Given the description of an element on the screen output the (x, y) to click on. 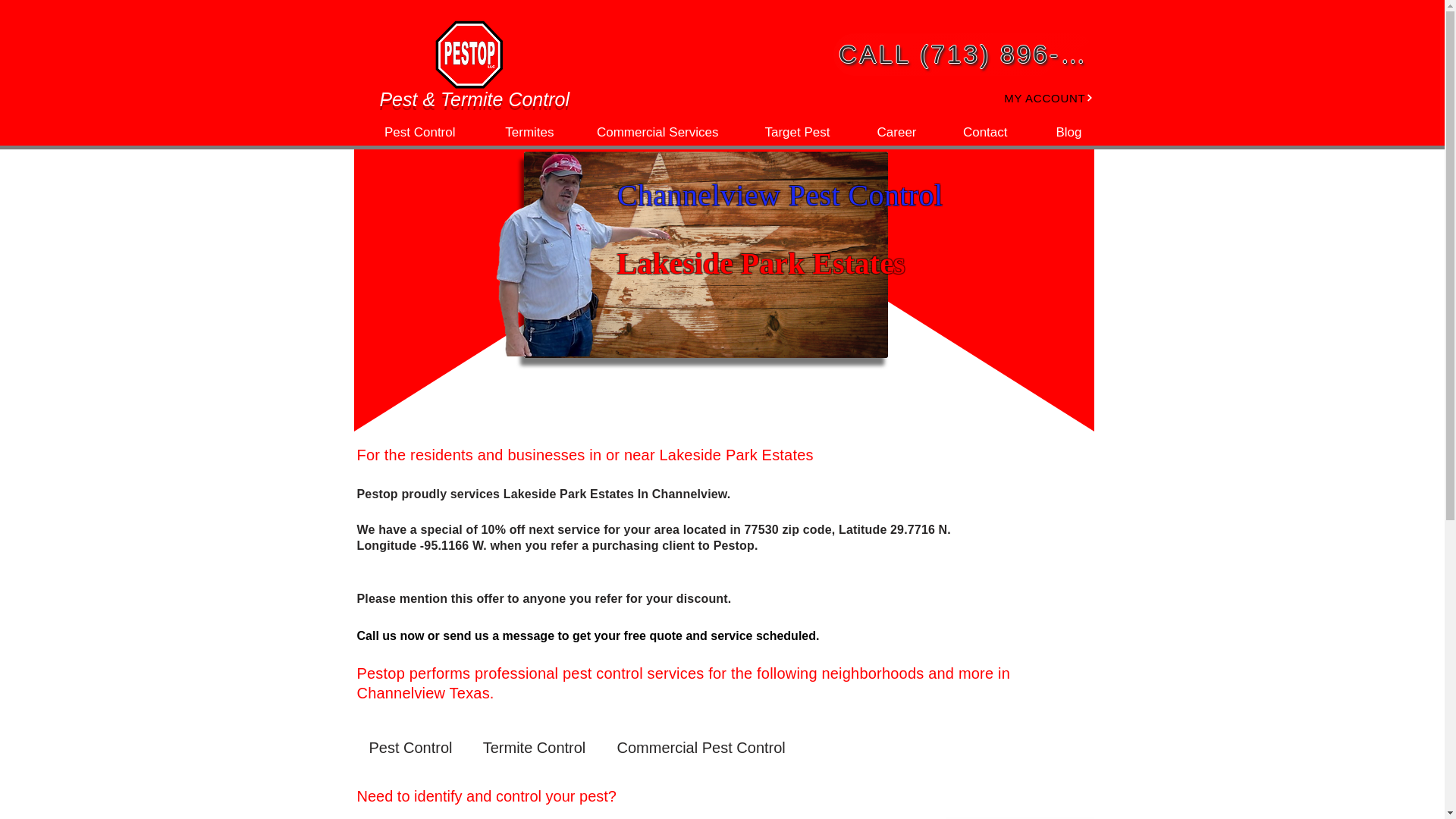
Commercial Pest Control (701, 747)
Pest Control (410, 747)
Contact (973, 131)
Termite Control (534, 747)
Pest Control (407, 131)
Termites (516, 131)
Commercial Services (648, 131)
Blog (1056, 131)
Need to identify and control your pest? (494, 796)
